Given the description of an element on the screen output the (x, y) to click on. 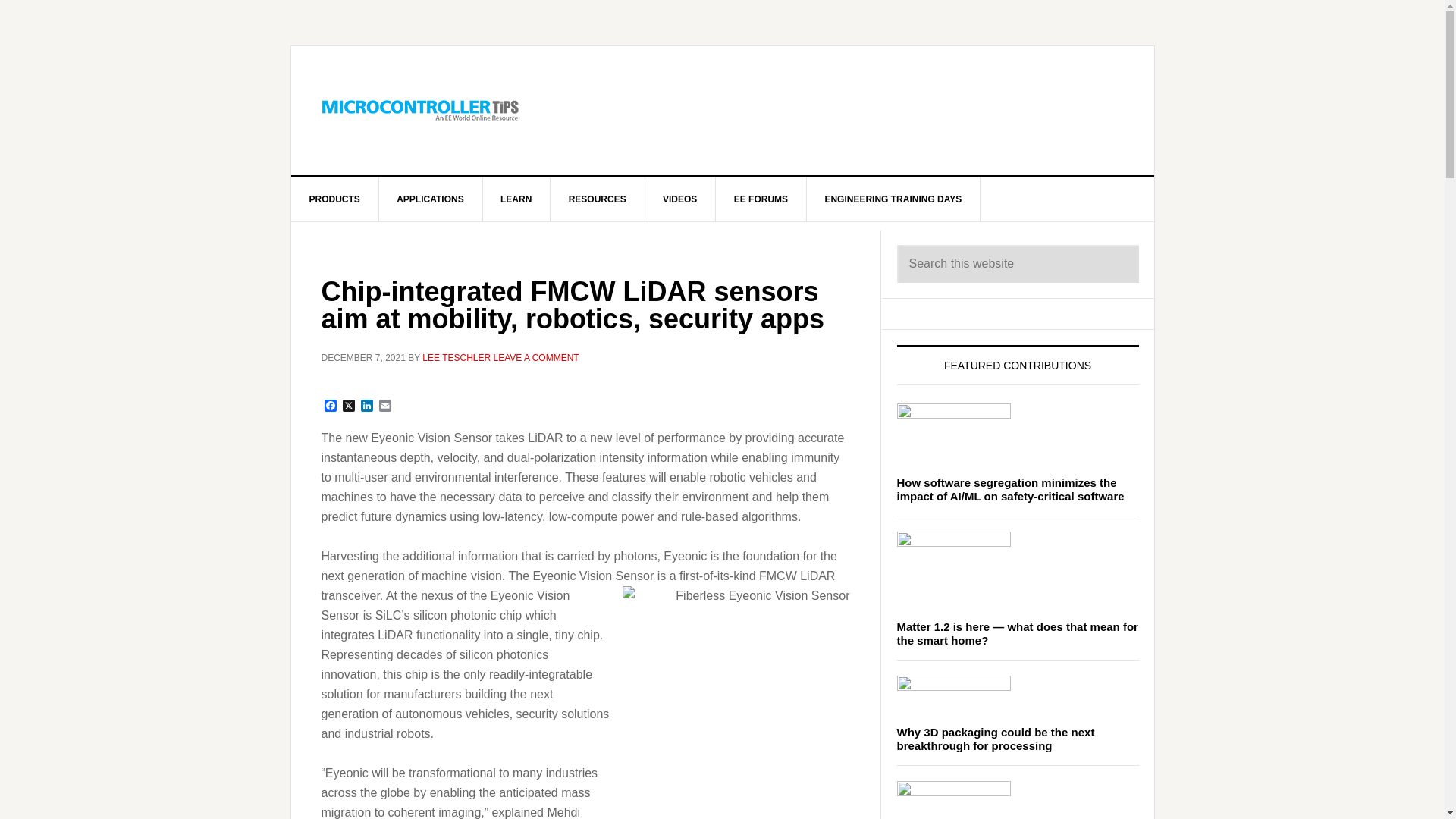
X (348, 406)
Facebook (330, 406)
LEARN (515, 199)
Email (384, 406)
PRODUCTS (334, 199)
LinkedIn (366, 406)
APPLICATIONS (429, 199)
EE FORUMS (761, 199)
VIDEOS (680, 199)
